Given the description of an element on the screen output the (x, y) to click on. 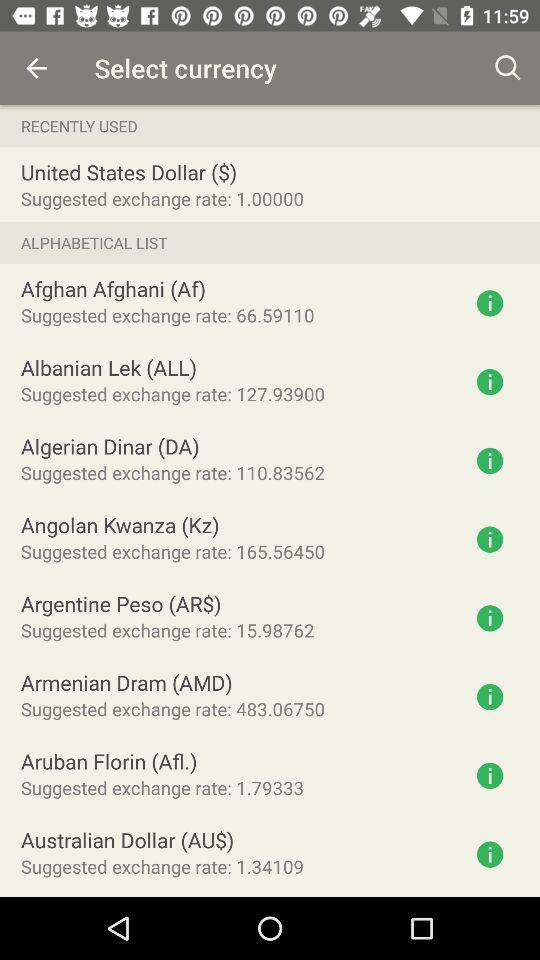
turn off the icon to the right of select currency (508, 67)
